Given the description of an element on the screen output the (x, y) to click on. 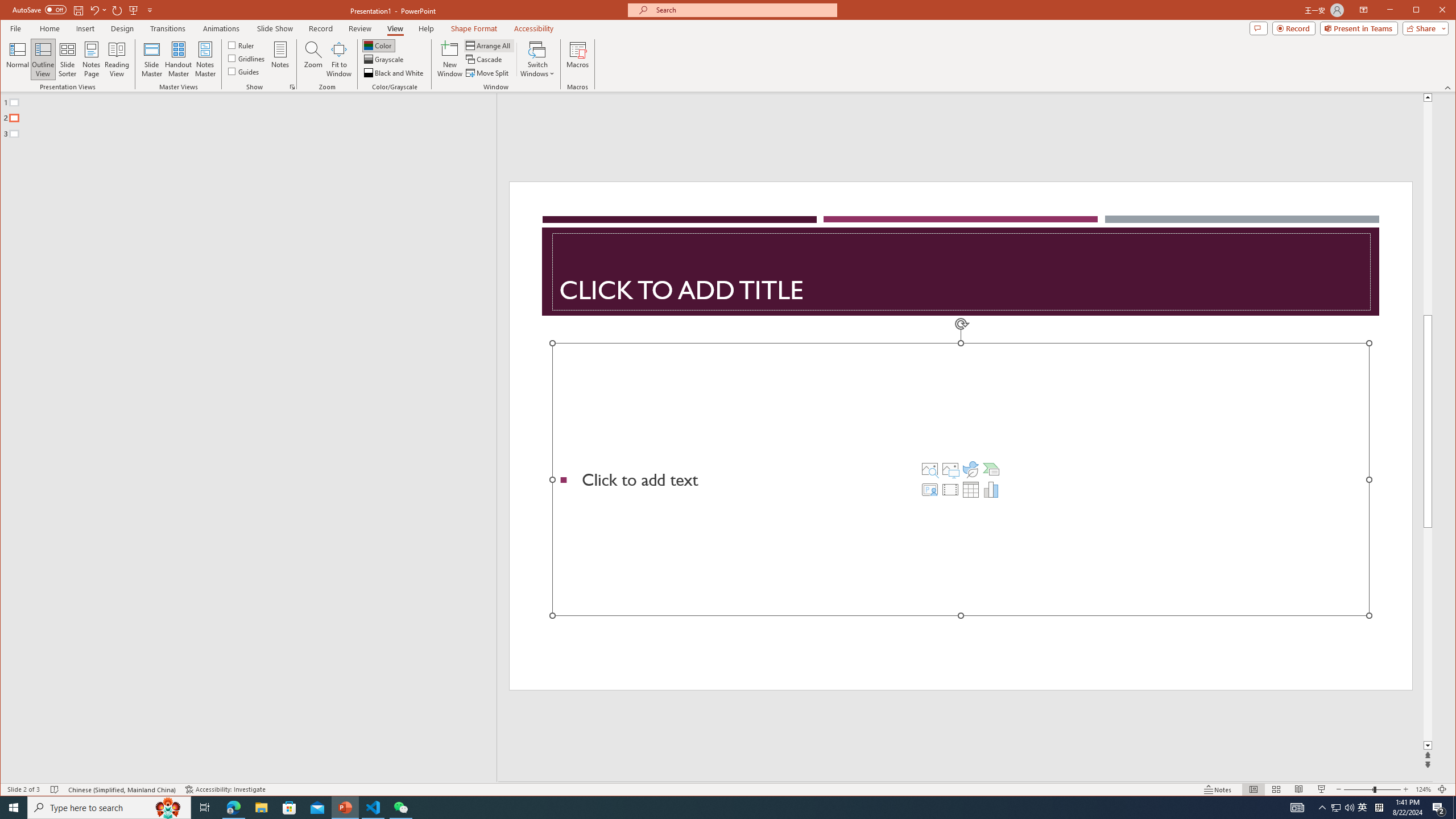
Ruler (241, 44)
Zoom... (312, 59)
Fit to Window (338, 59)
Zoom 124% (1422, 789)
Black and White (394, 72)
Outline View (42, 59)
